Given the description of an element on the screen output the (x, y) to click on. 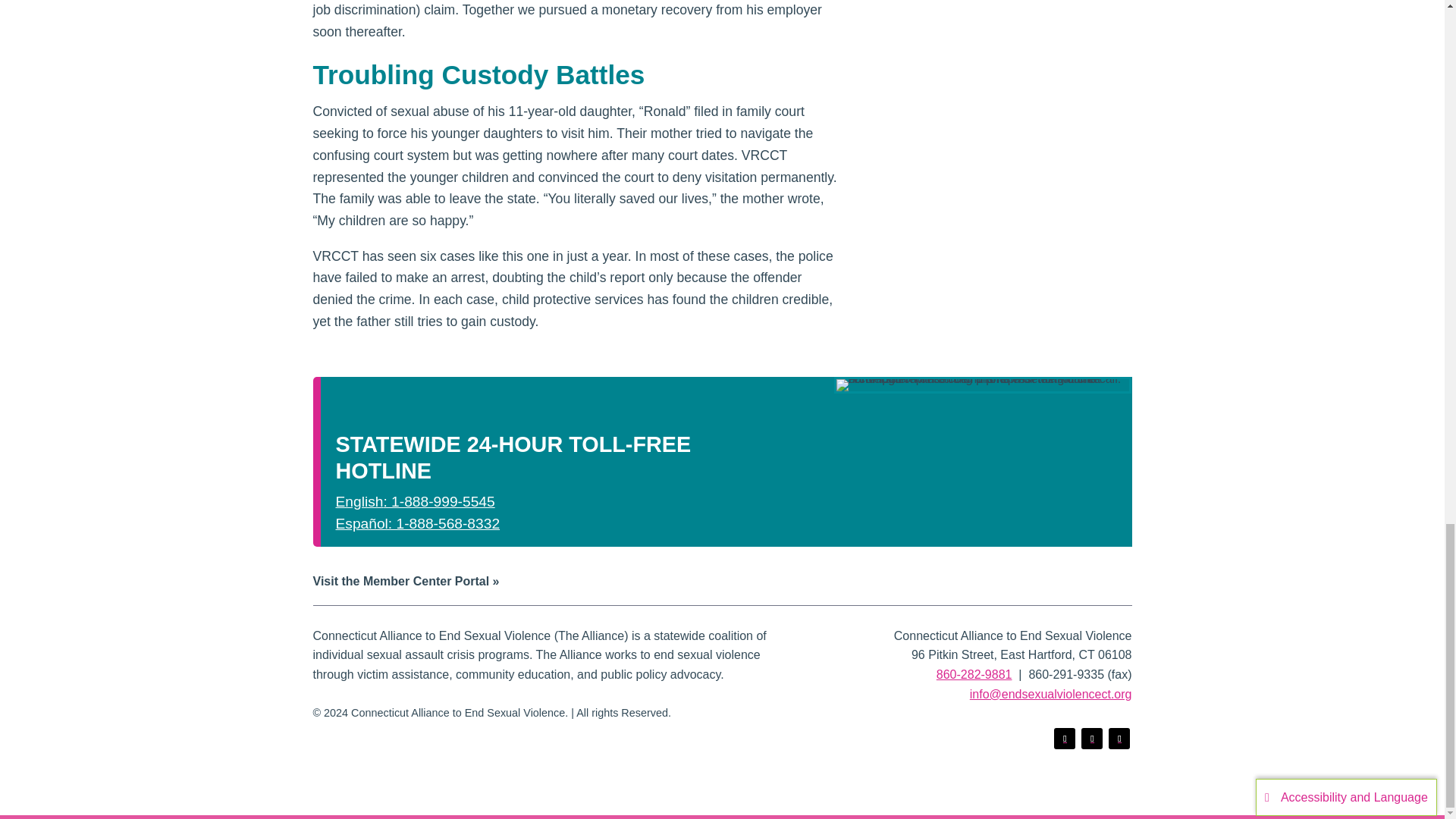
Follow on LinkedIn (1091, 738)
Follow on Facebook (1064, 738)
Phone, Text and Chat Hotline (982, 385)
Follow on Instagram (1118, 738)
